Given the description of an element on the screen output the (x, y) to click on. 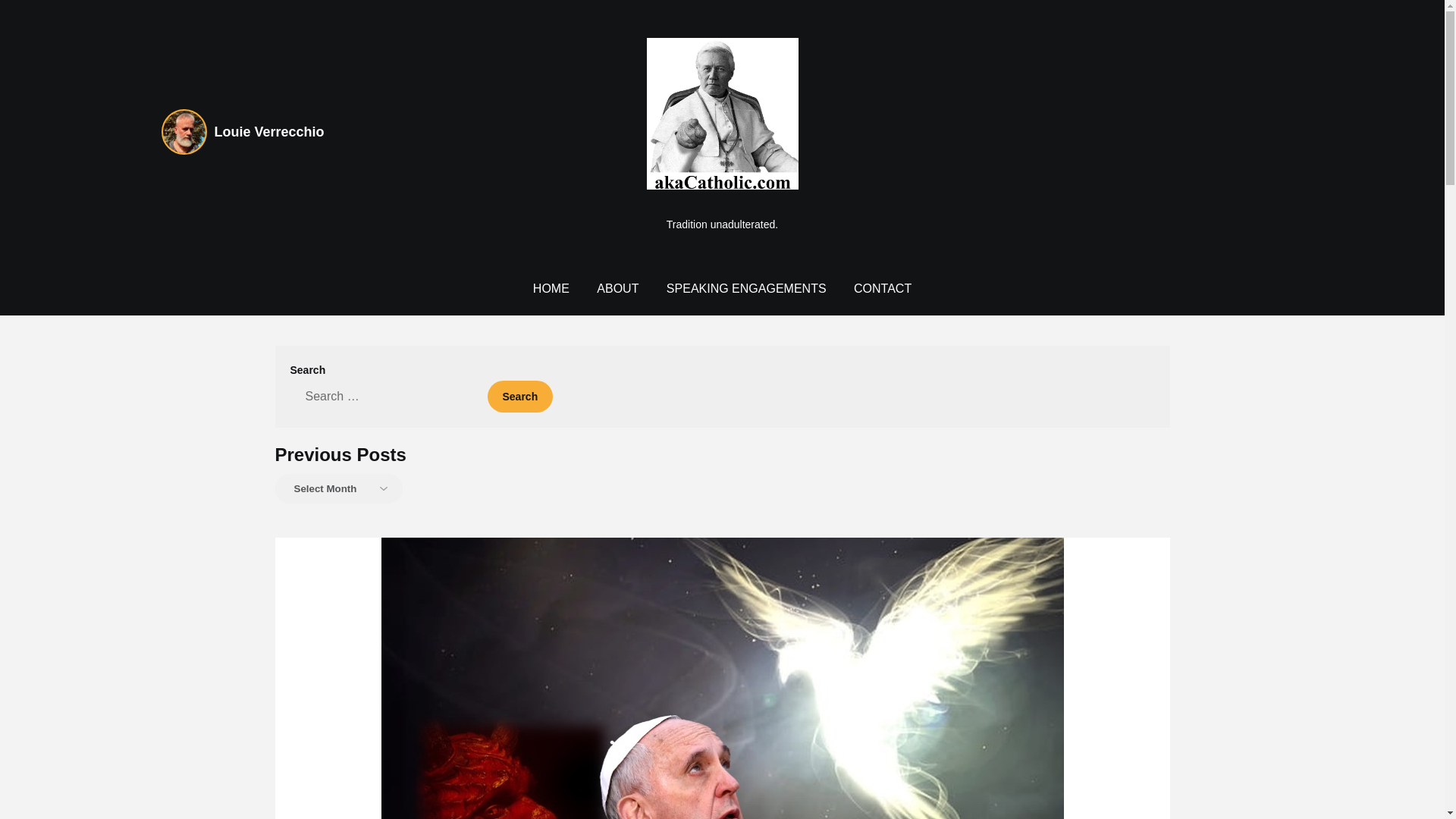
Search (519, 396)
ABOUT (617, 288)
SPEAKING ENGAGEMENTS (745, 288)
CONTACT (882, 288)
Search (519, 396)
HOME (550, 288)
Search (519, 396)
